Given the description of an element on the screen output the (x, y) to click on. 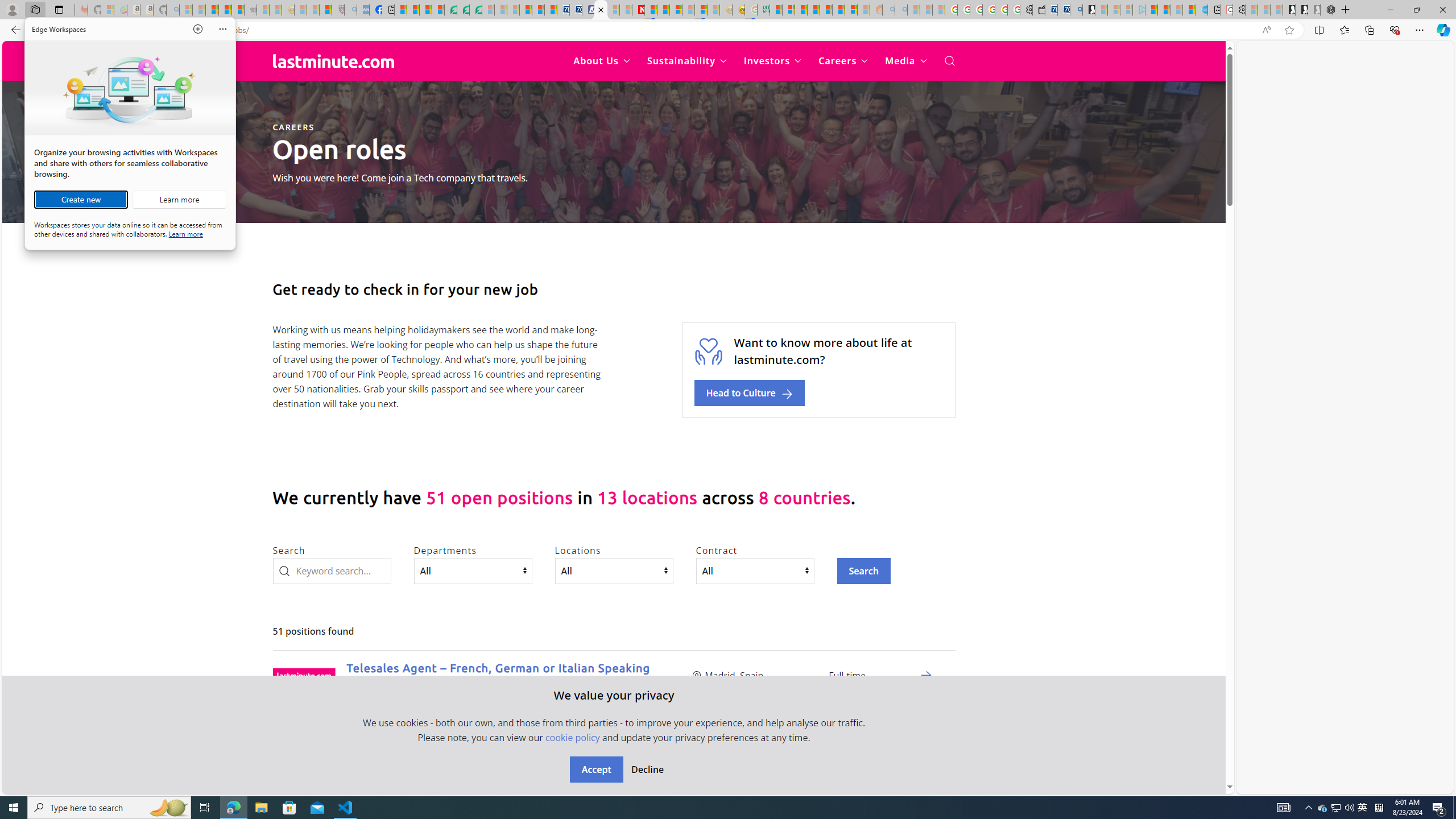
Careers (842, 60)
About Us (601, 60)
